Given the description of an element on the screen output the (x, y) to click on. 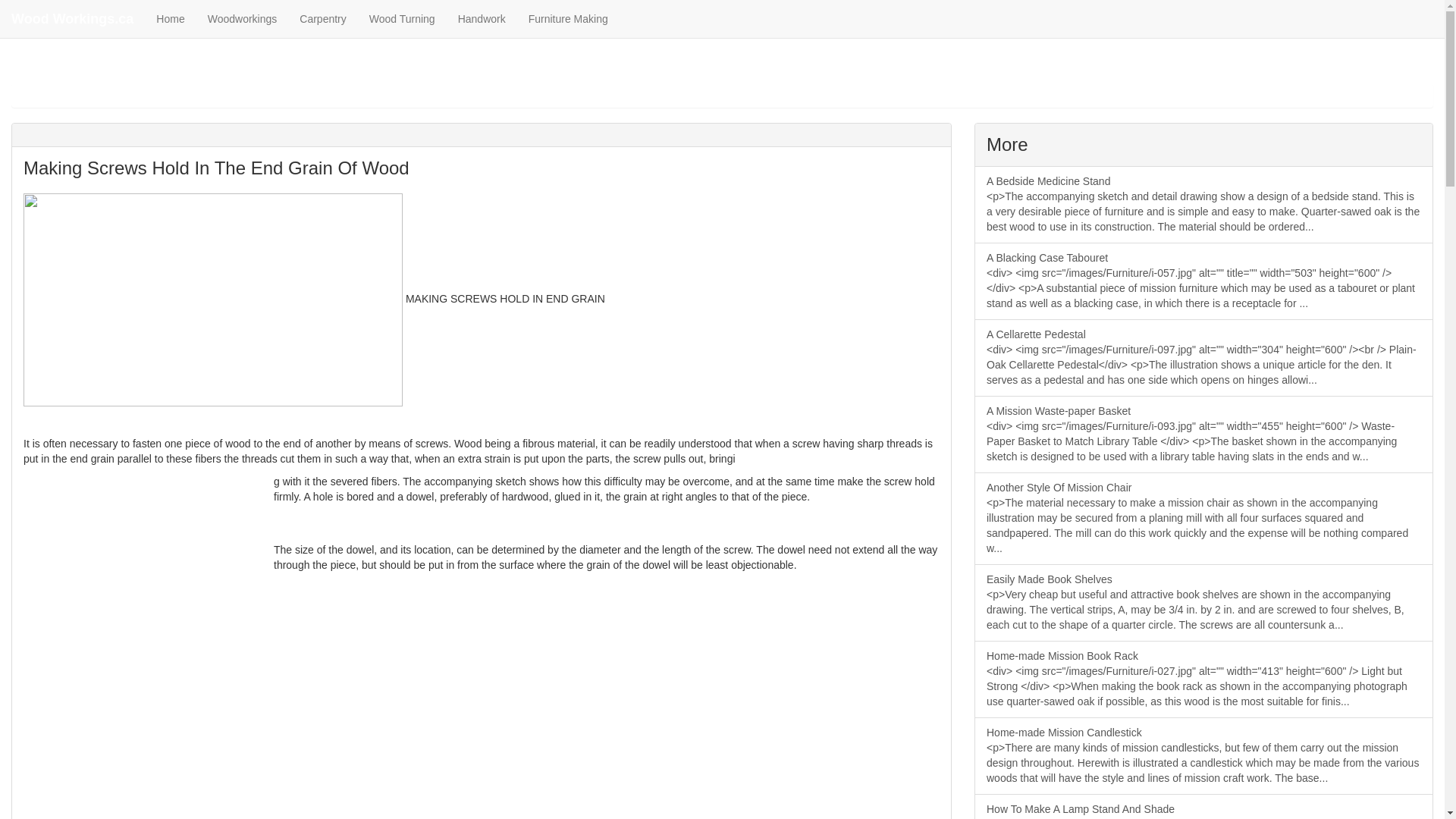
Carpentry (322, 18)
Home (169, 18)
Handwork (481, 18)
Furniture Making (568, 18)
Wood Turning (402, 18)
Woodworkings (242, 18)
Wood Workings.ca (72, 18)
